Given the description of an element on the screen output the (x, y) to click on. 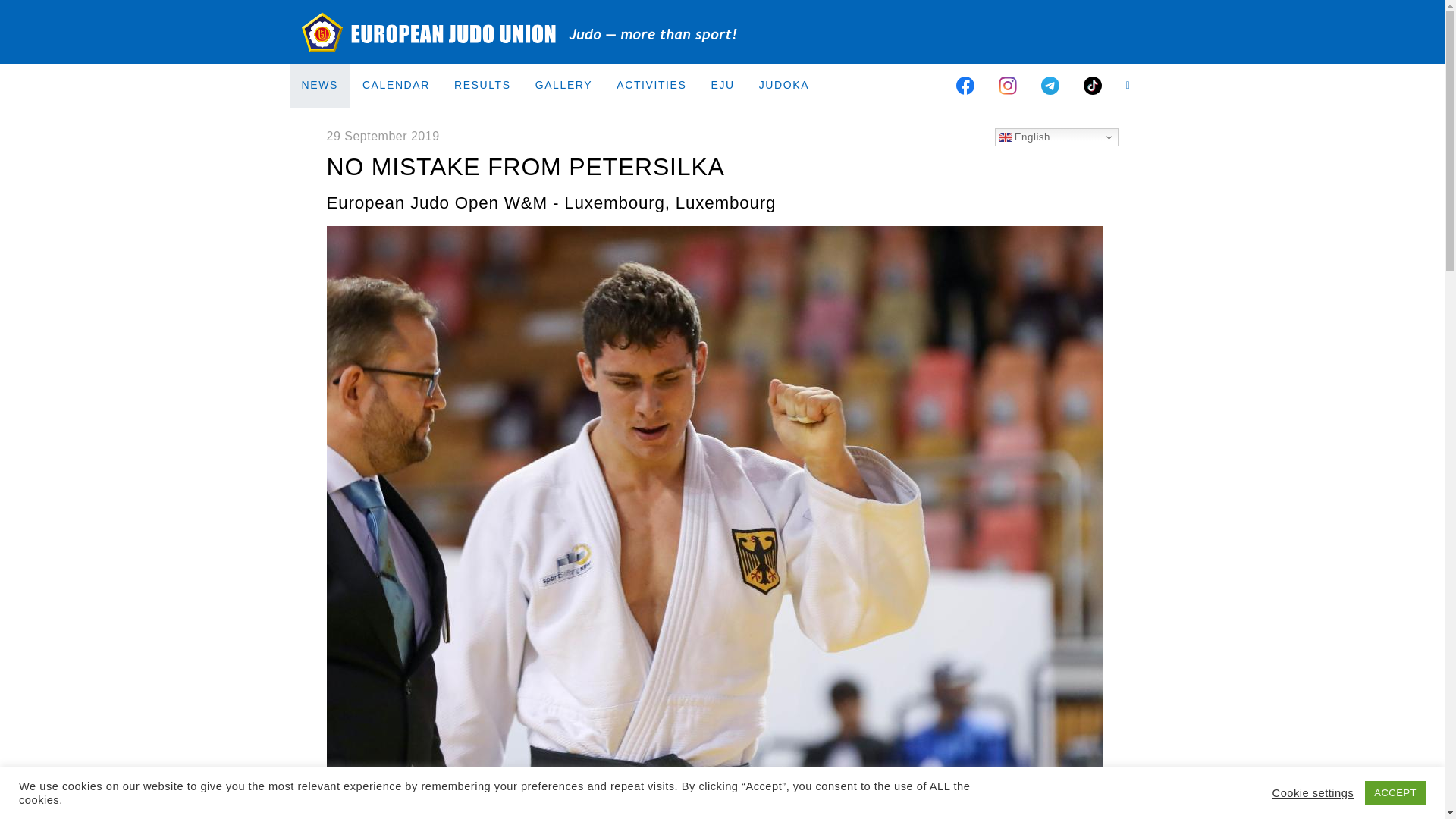
NEWS (319, 85)
RESULTS (482, 85)
Results (482, 85)
Gallery (563, 85)
EJU (721, 85)
Activities (651, 85)
European Judo Union (520, 31)
GALLERY (563, 85)
ACTIVITIES (651, 85)
News (319, 85)
